Given the description of an element on the screen output the (x, y) to click on. 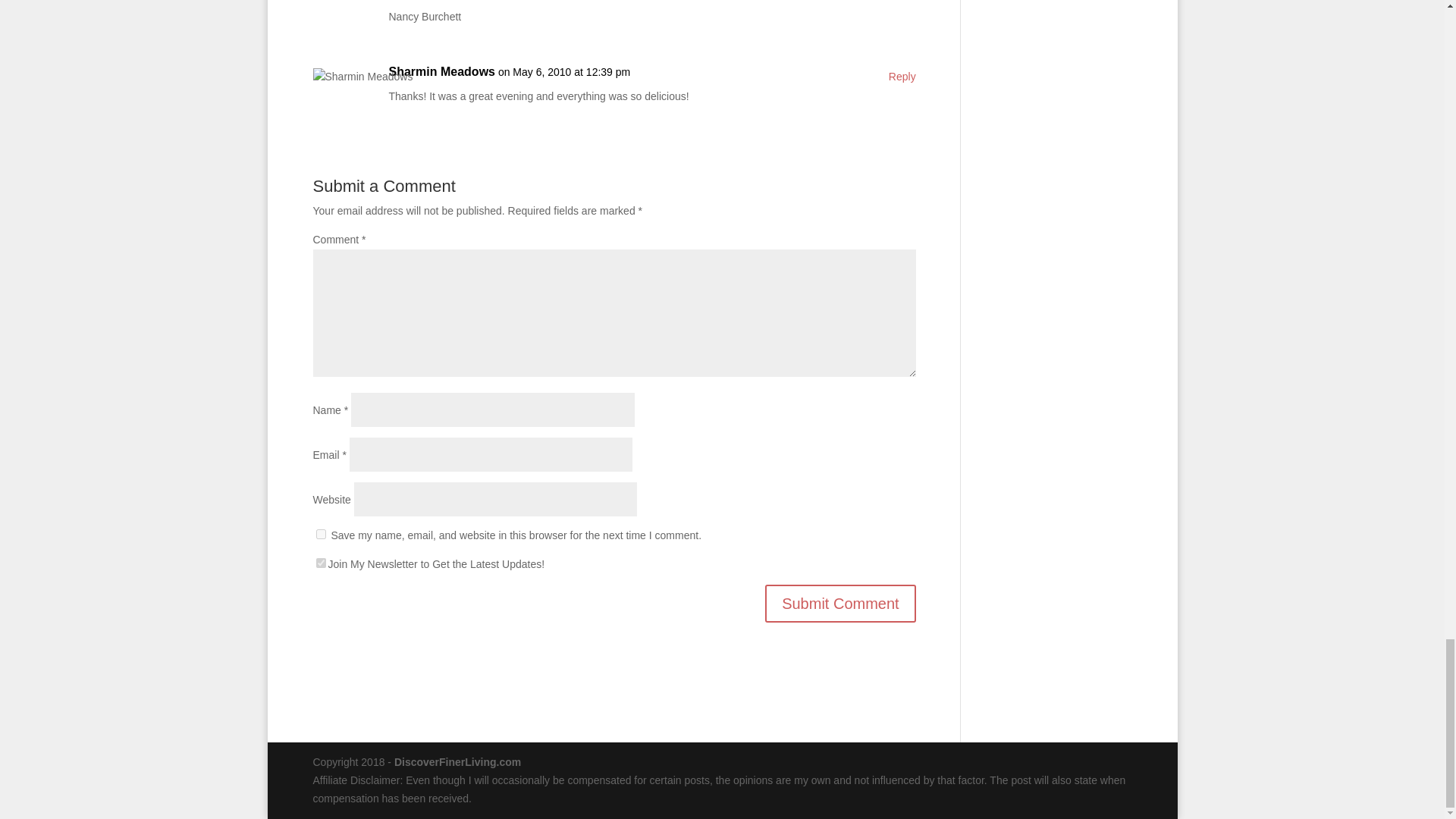
Submit Comment (840, 603)
1 (319, 562)
Reply (901, 76)
Sharmin Meadows (441, 72)
Submit Comment (840, 603)
yes (319, 533)
